Given the description of an element on the screen output the (x, y) to click on. 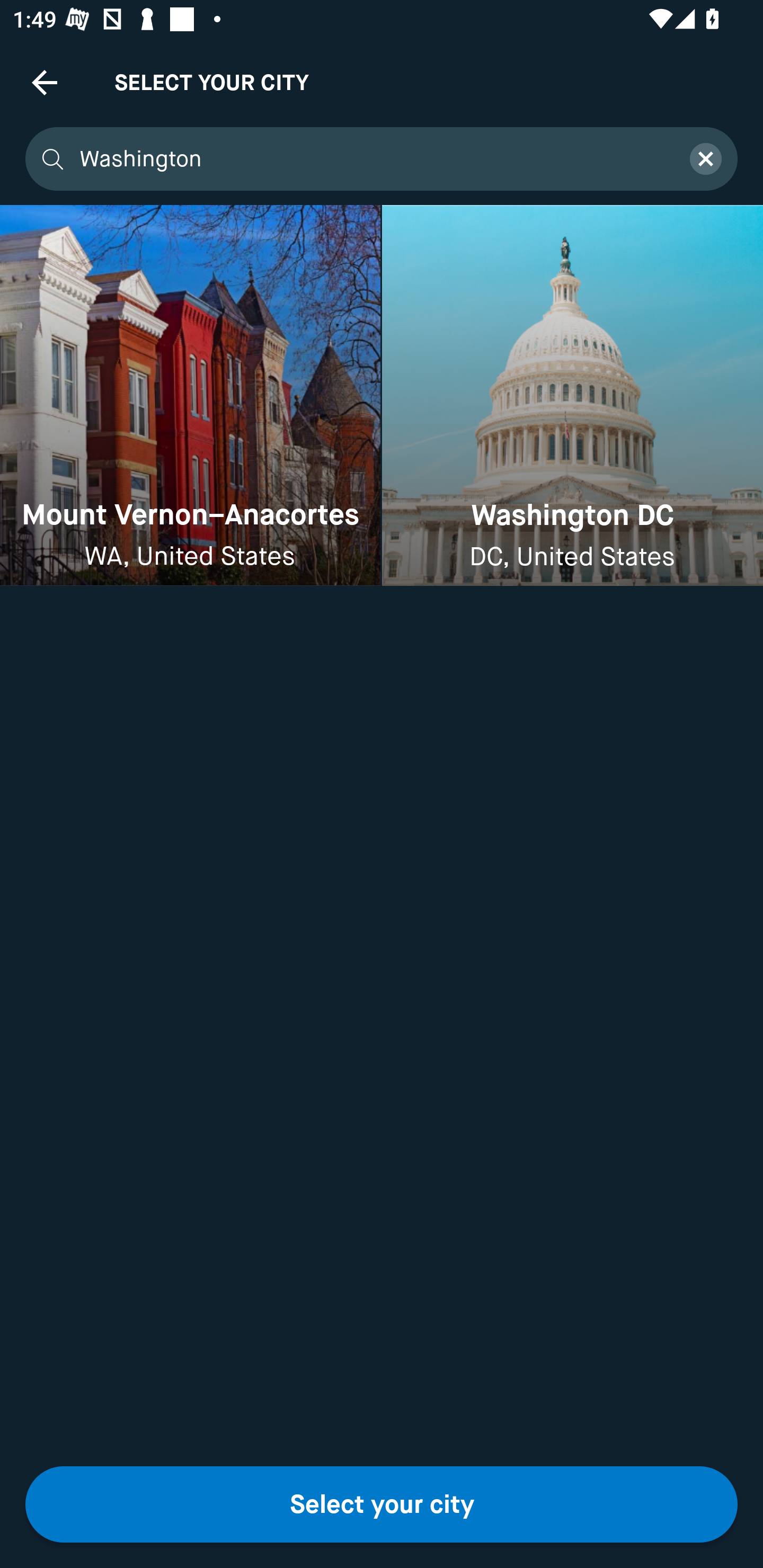
Navigate up (44, 82)
Washington (373, 159)
Mount Vernon–Anacortes WA, United States (190, 395)
Washington DC DC, United States (572, 395)
Select your city (381, 1504)
